Given the description of an element on the screen output the (x, y) to click on. 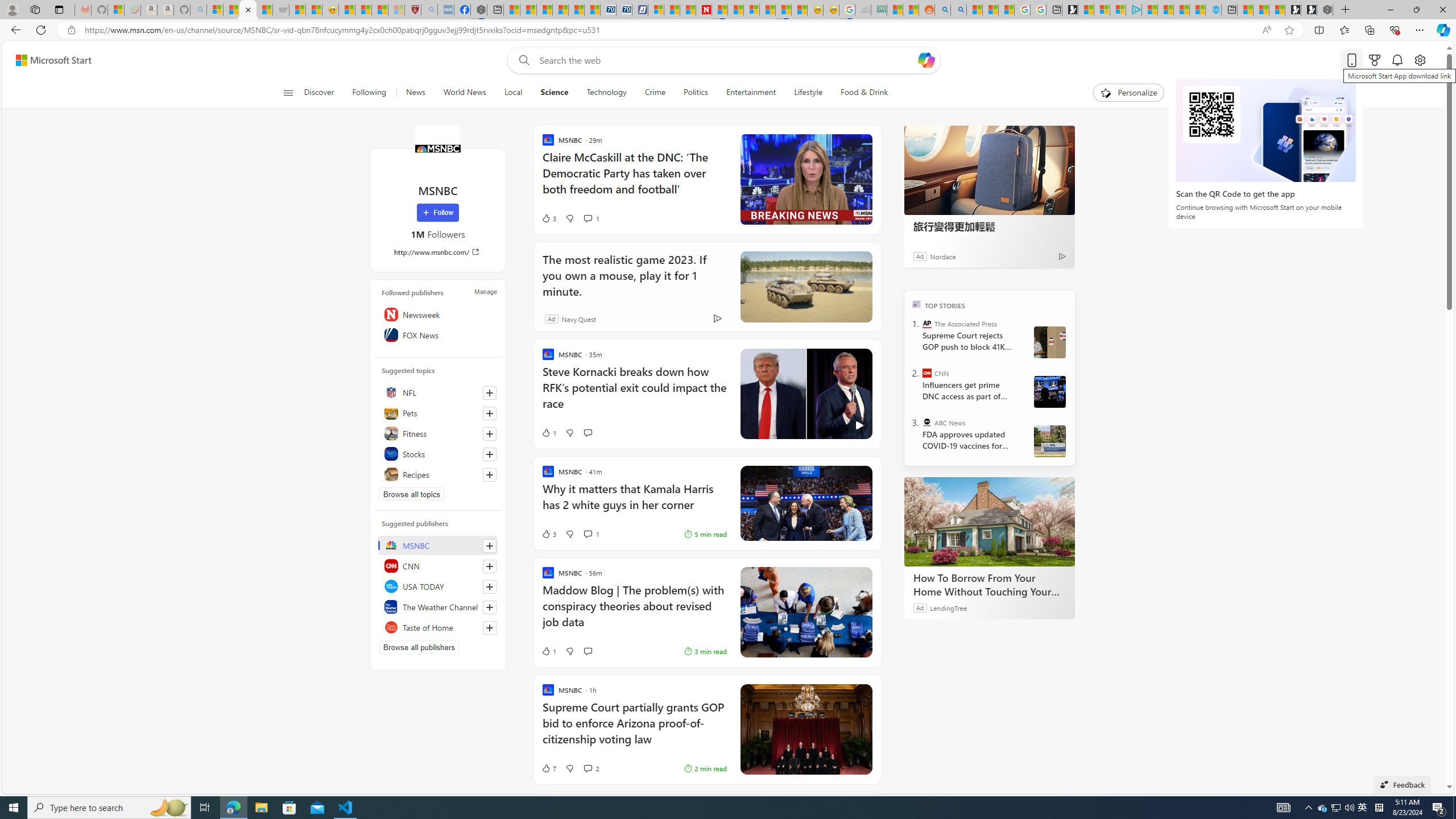
MSNBC (437, 148)
